Given the description of an element on the screen output the (x, y) to click on. 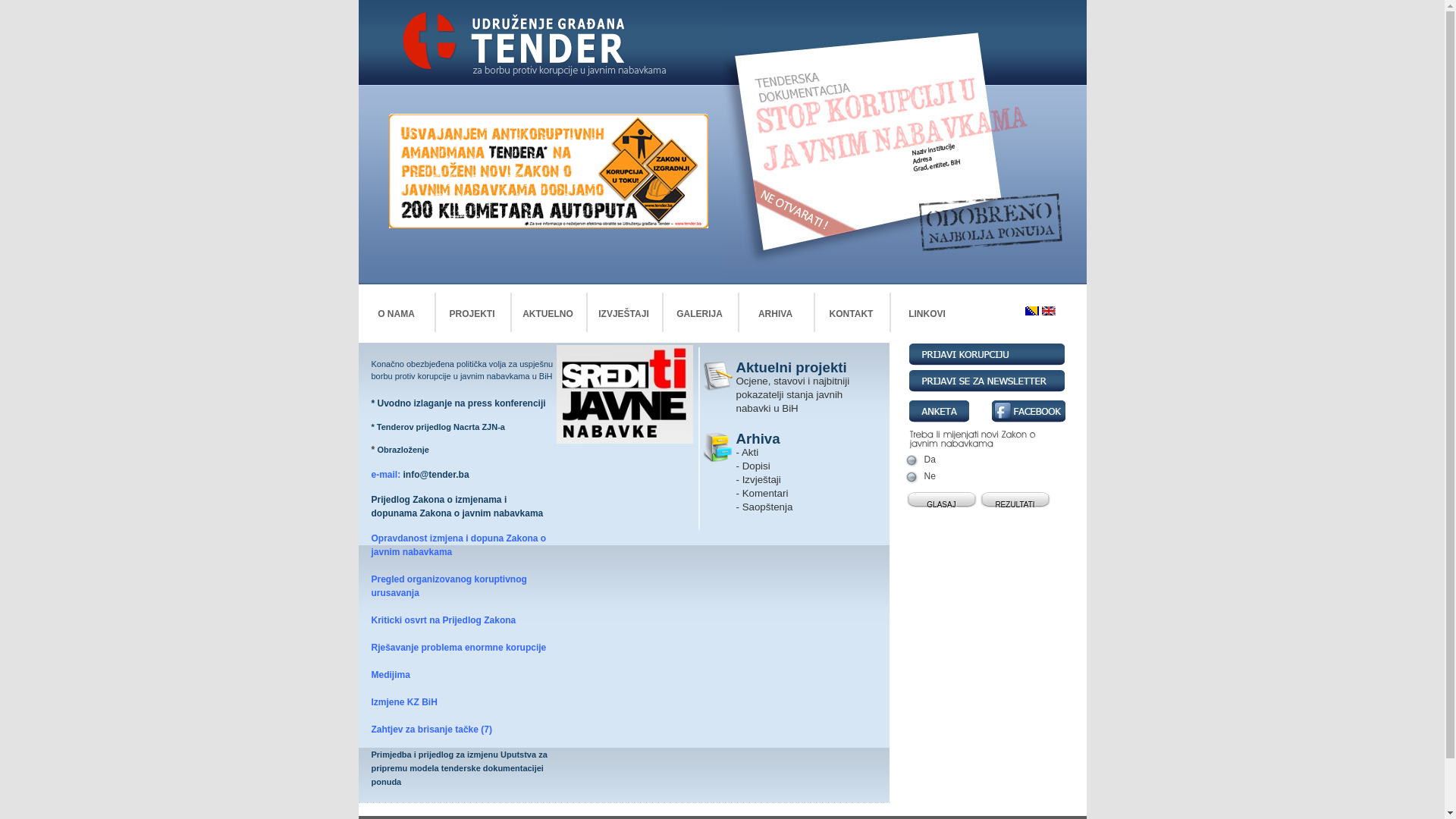
KONTAKT Element type: text (850, 313)
Aktuelni projekti Element type: text (790, 367)
* Uvodno izlaganje na press konferenciji Element type: text (458, 403)
Arhiva Element type: text (757, 438)
AKTUELNO Element type: text (547, 313)
Opravdanost izmjena i dopuna Zakona o javnim nabavkama Element type: text (458, 545)
English Element type: hover (1047, 310)
GALERIJA Element type: text (699, 313)
Pregled organizovanog koruptivnog urusavanja Element type: text (449, 586)
GLASAJ Element type: text (941, 499)
Medijima Element type: text (390, 674)
Izmjene KZ BiH Element type: text (404, 701)
Kriticki osvrt na Prijedlog Zakona Element type: text (443, 620)
PROJEKTI Element type: text (471, 313)
Rezultati Element type: text (1014, 499)
O NAMA Element type: text (395, 313)
LINKOVI Element type: text (926, 313)
info@tender.ba Element type: text (436, 474)
Lokalni Element type: hover (1030, 310)
ARHIVA Element type: text (774, 313)
* Tenderov prijedlog Nacrta ZJN-a Element type: text (438, 432)
